Given the description of an element on the screen output the (x, y) to click on. 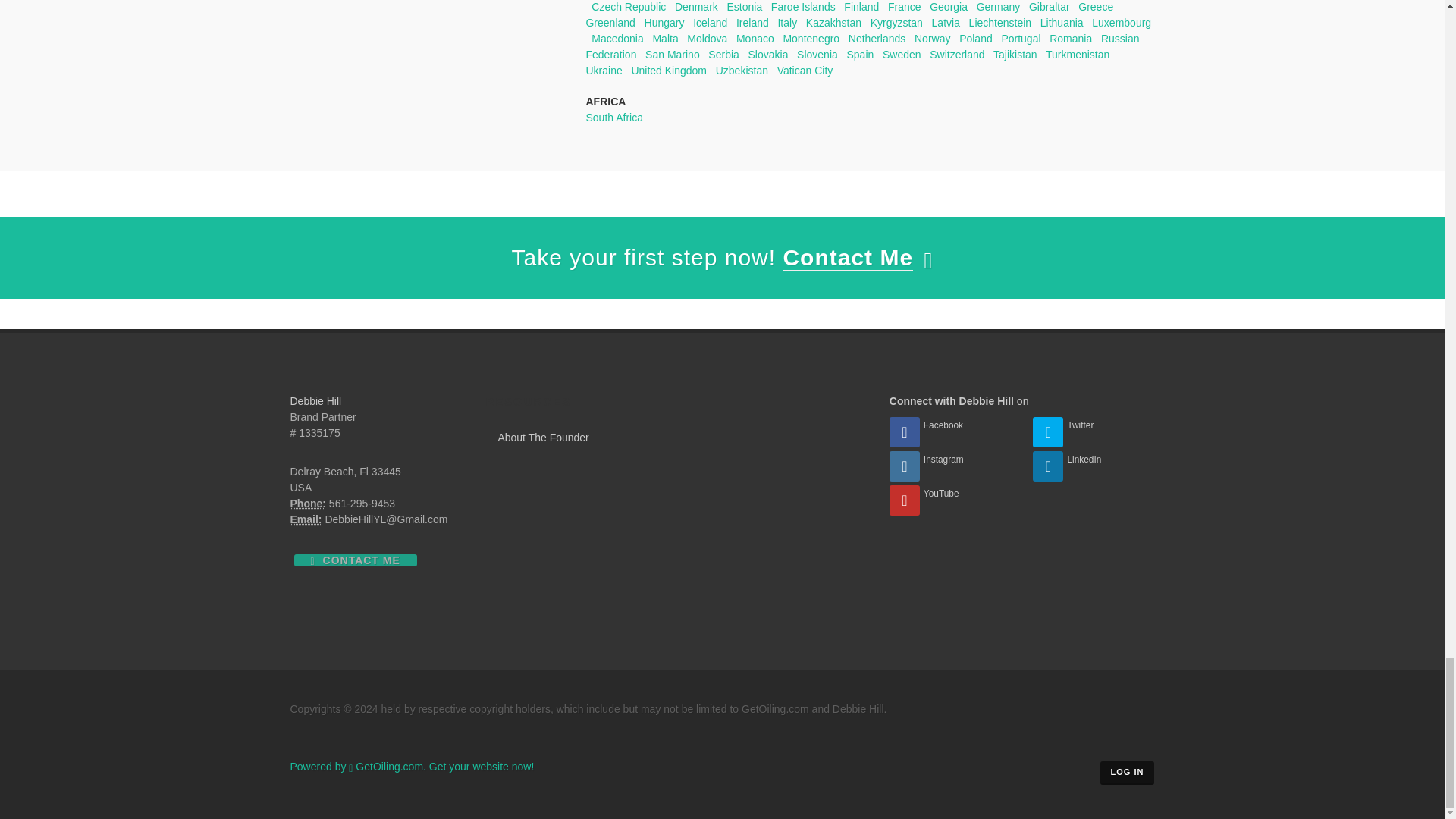
Phone Number (306, 503)
Email Address (305, 519)
